Given the description of an element on the screen output the (x, y) to click on. 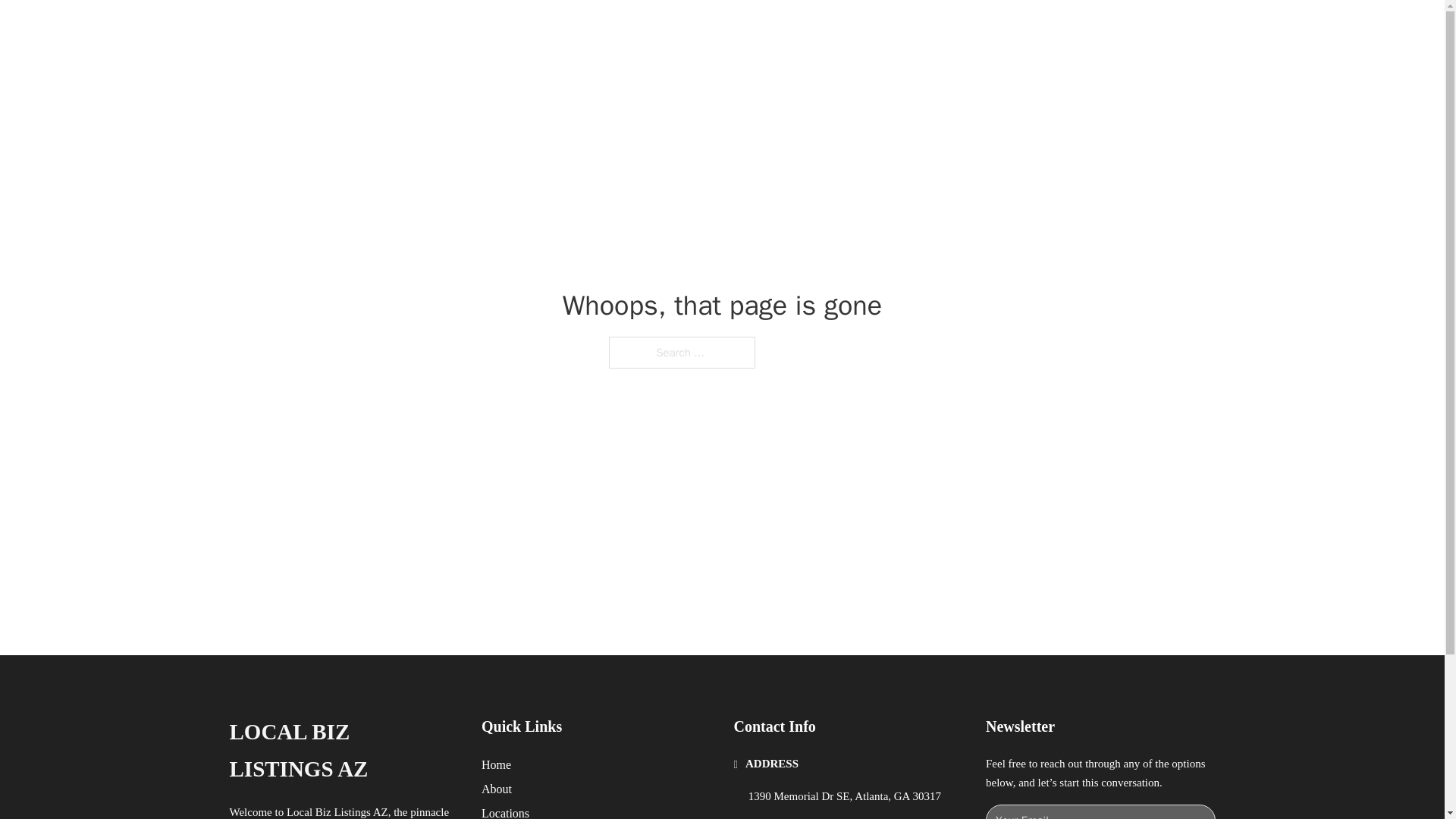
HOME (919, 29)
LOCATIONS (990, 29)
About (496, 788)
Locations (505, 811)
Home (496, 764)
LOCAL BIZ LISTINGS AZ (343, 750)
